Given the description of an element on the screen output the (x, y) to click on. 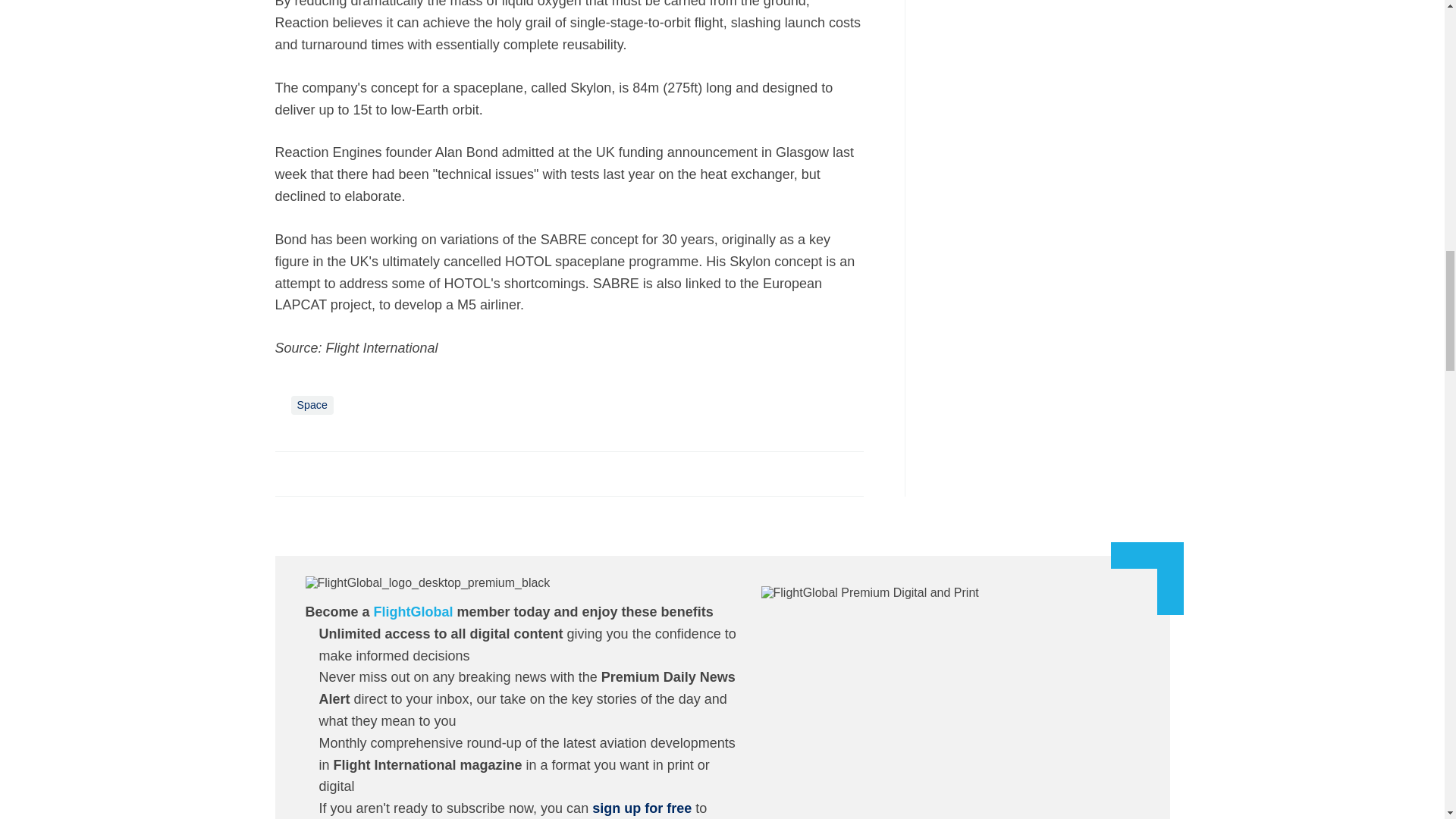
Email this article (386, 472)
Share this on Linked in (352, 472)
Share this on Facebook (288, 472)
Share this on Twitter (320, 472)
